Given the description of an element on the screen output the (x, y) to click on. 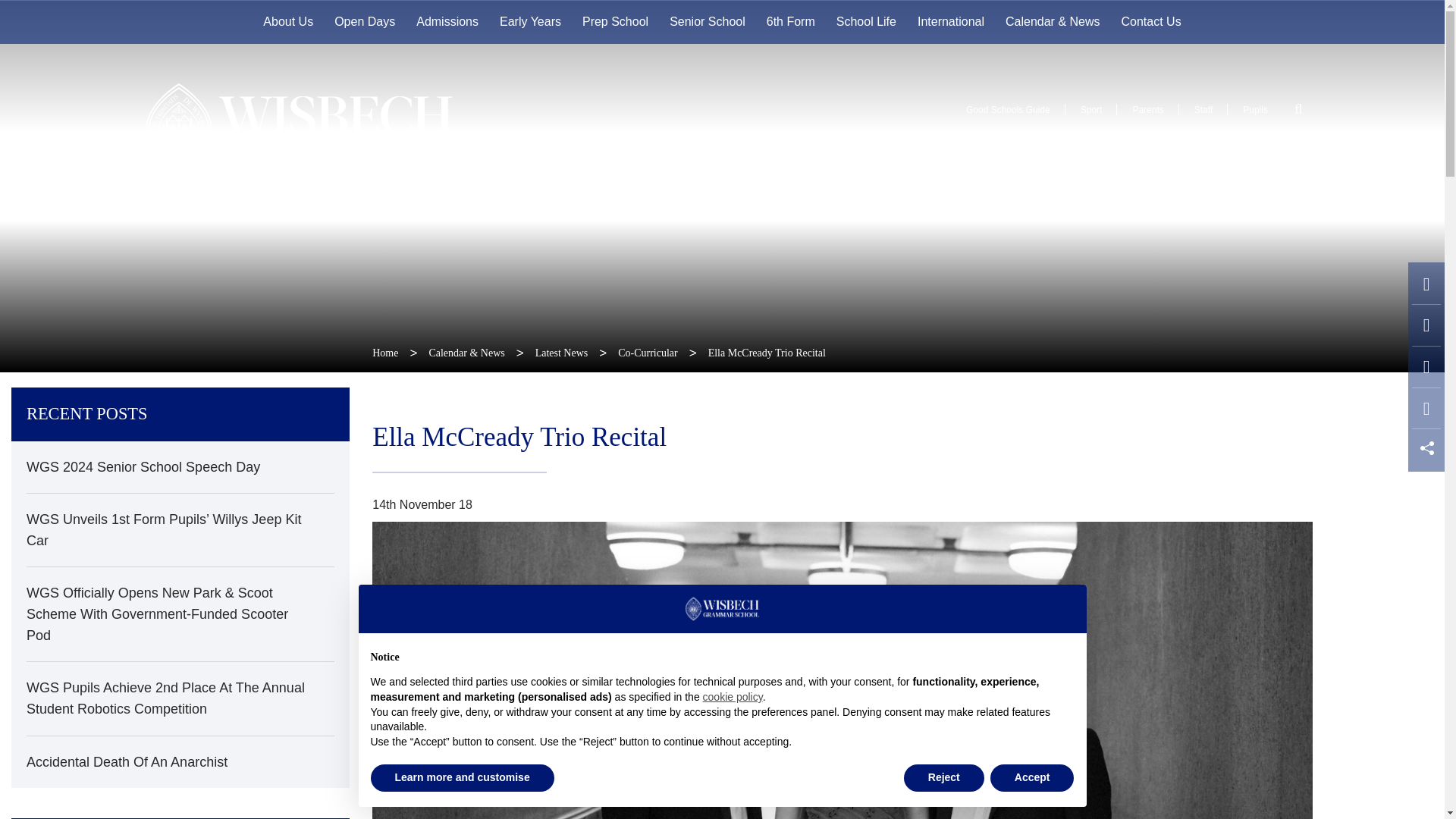
Admissions (447, 22)
About Us (287, 22)
Prep School (615, 22)
Senior School (707, 22)
6th Form (790, 22)
Early Years (530, 22)
Open Days (364, 22)
